Given the description of an element on the screen output the (x, y) to click on. 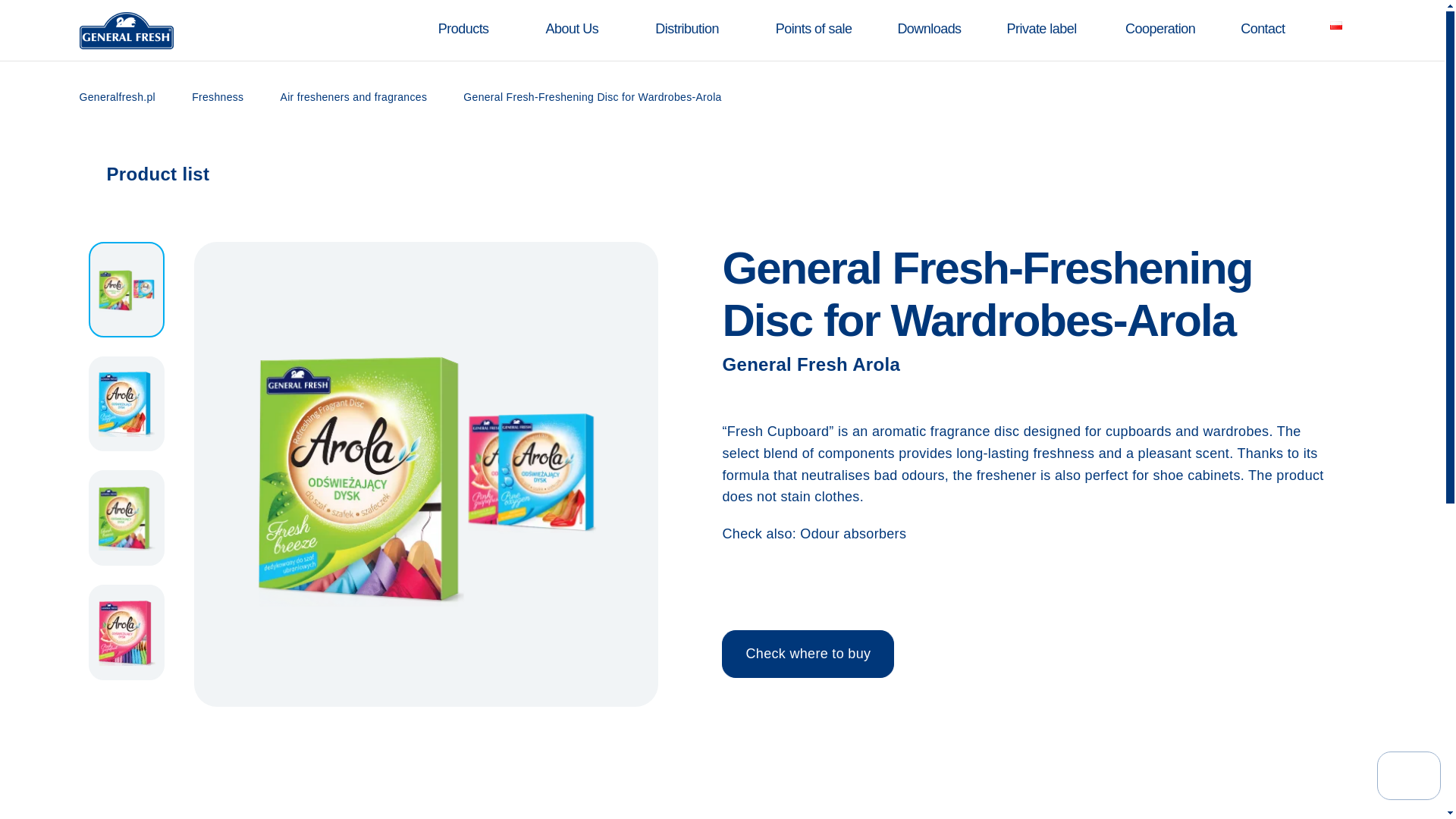
About Us (571, 29)
General Fresh Arola (1030, 364)
Air fresheners and fragrances (354, 96)
General Fresh Arola (1030, 364)
Contact (1262, 29)
General Fresh (125, 30)
Products (463, 29)
Cooperation (1159, 29)
Product list (143, 174)
Points of sale (813, 29)
